Given the description of an element on the screen output the (x, y) to click on. 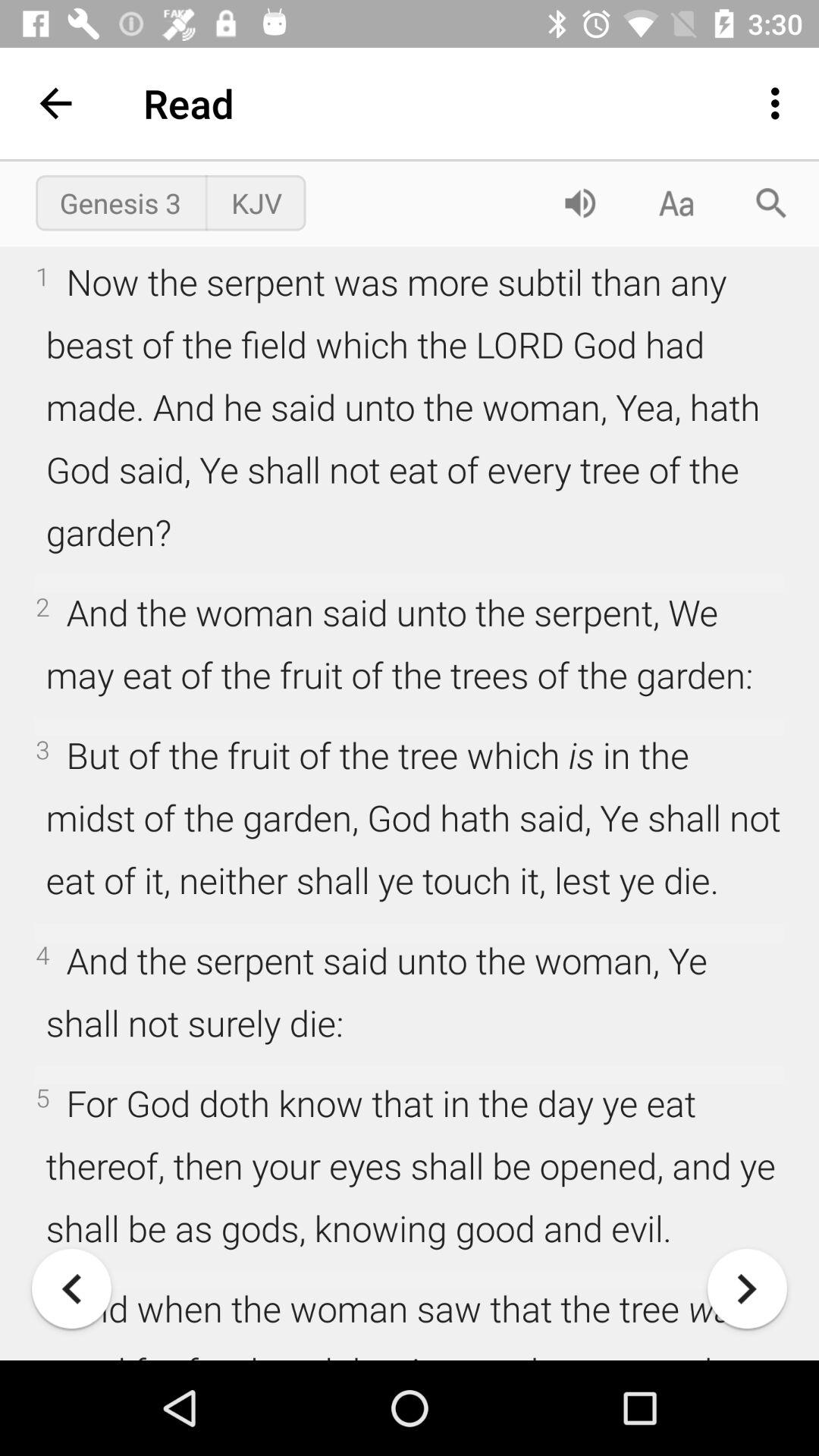
press the item above the 1 now the icon (675, 202)
